Given the description of an element on the screen output the (x, y) to click on. 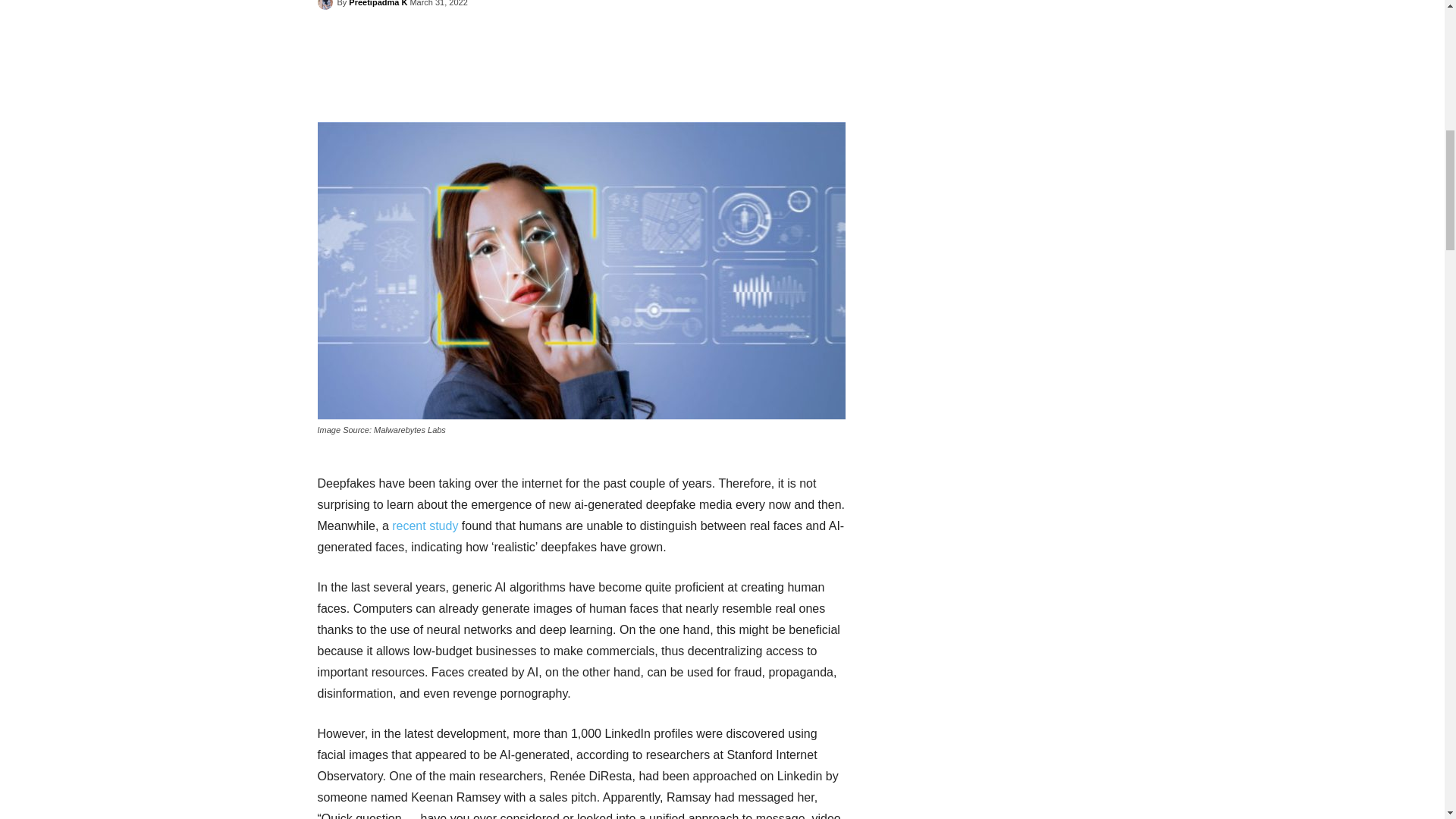
Preetipadma K (378, 6)
Preetipadma K (326, 4)
